Given the description of an element on the screen output the (x, y) to click on. 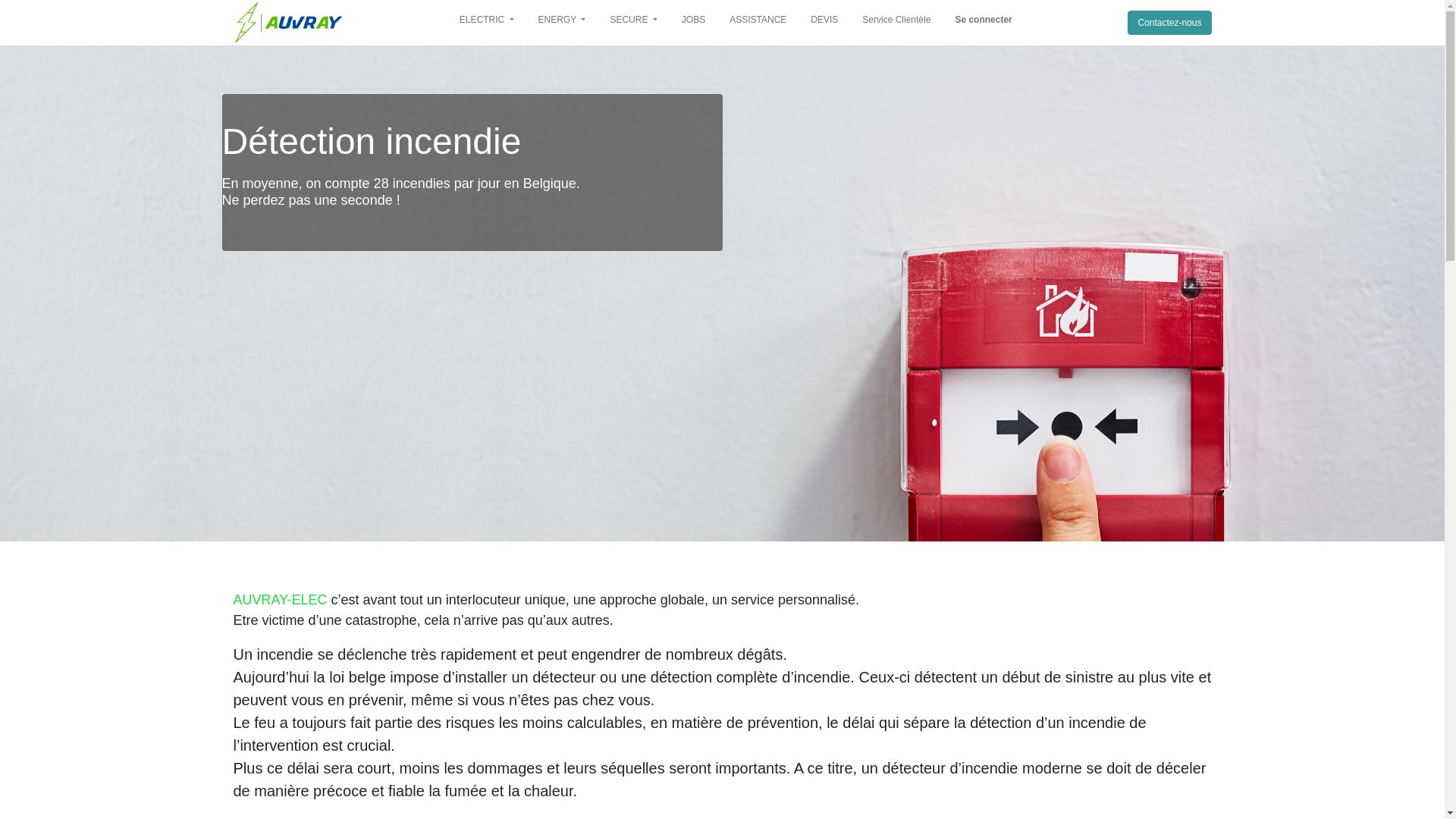
JOBS Element type: text (693, 22)
AUVRAY ELECTRICITE Element type: hover (288, 22)
Contactez-nous Element type: text (1169, 22)
SECURE Element type: text (632, 22)
ASSISTANCE Element type: text (757, 22)
DEVIS Element type: text (823, 22)
Se connecter Element type: text (982, 22)
ELECTRIC Element type: text (486, 22)
ENERGY Element type: text (562, 22)
